Given the description of an element on the screen output the (x, y) to click on. 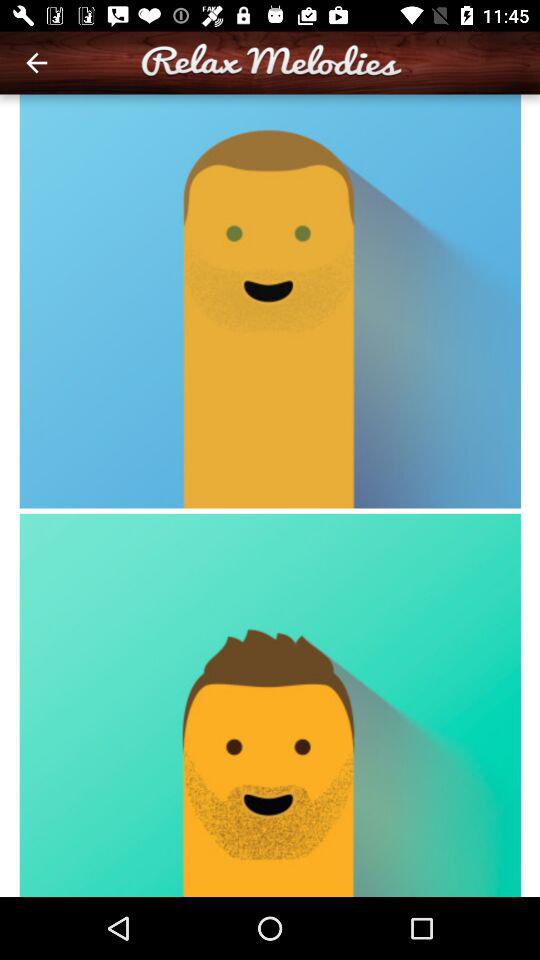
song selection button (270, 495)
